Given the description of an element on the screen output the (x, y) to click on. 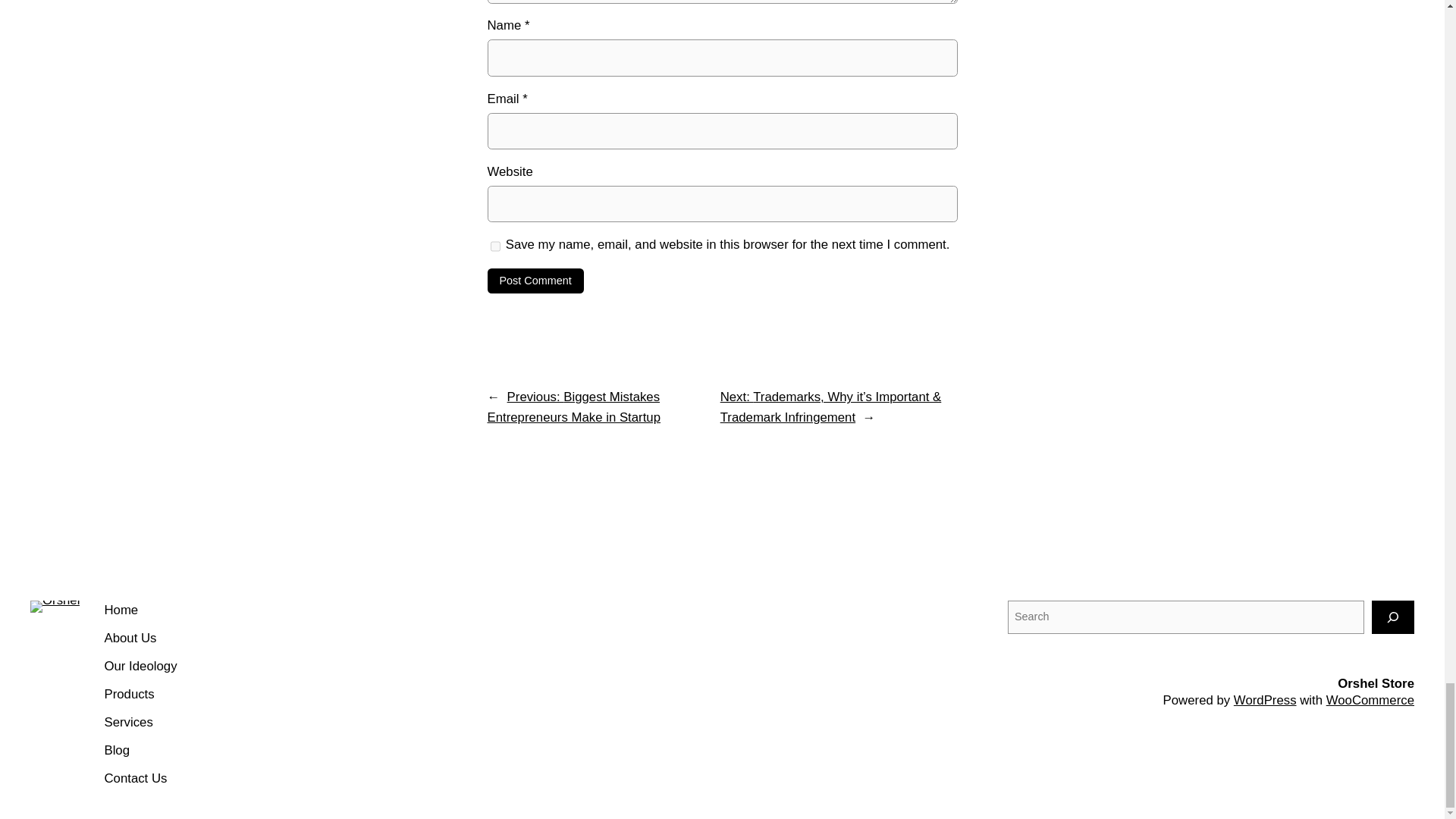
Contact Us (135, 779)
Blog (116, 751)
Home (120, 610)
Post Comment (534, 281)
WooCommerce (1369, 699)
Our Ideology (139, 666)
Previous: Biggest Mistakes Entrepreneurs Make in Startup (573, 407)
Orshel Store (1375, 683)
WordPress (1265, 699)
Services (127, 722)
